Given the description of an element on the screen output the (x, y) to click on. 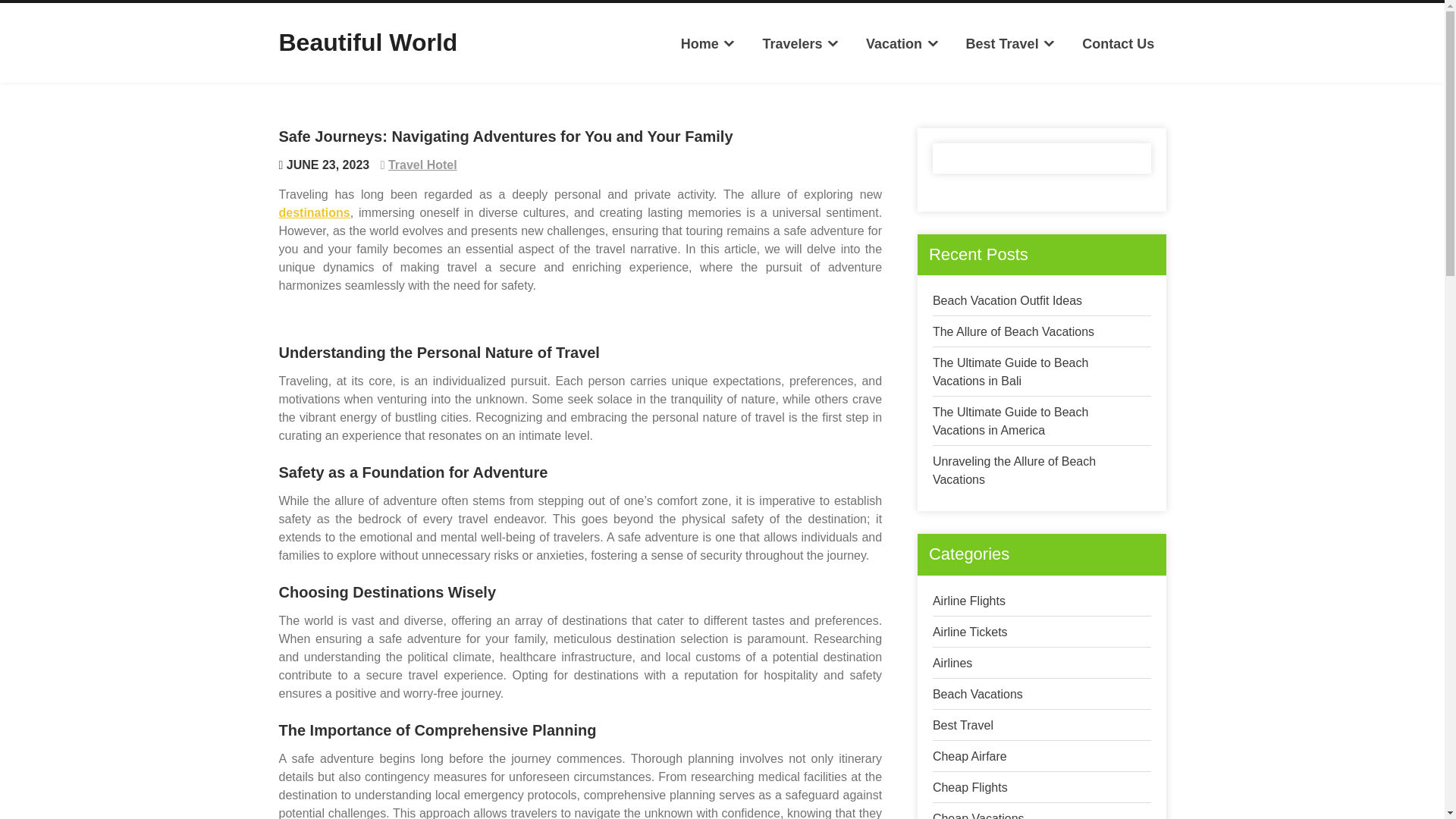
The Ultimate Guide to Beach Vacations in America (1010, 420)
The Ultimate Guide to Beach Vacations in Bali (1010, 371)
Contact Us (1118, 44)
Beautiful World (368, 42)
Unraveling the Allure of Beach Vacations (1014, 470)
Vacation (902, 44)
The Allure of Beach Vacations (1013, 331)
destinations (314, 212)
Travel Hotel (422, 164)
Beach Vacation Outfit Ideas (1007, 300)
